Given the description of an element on the screen output the (x, y) to click on. 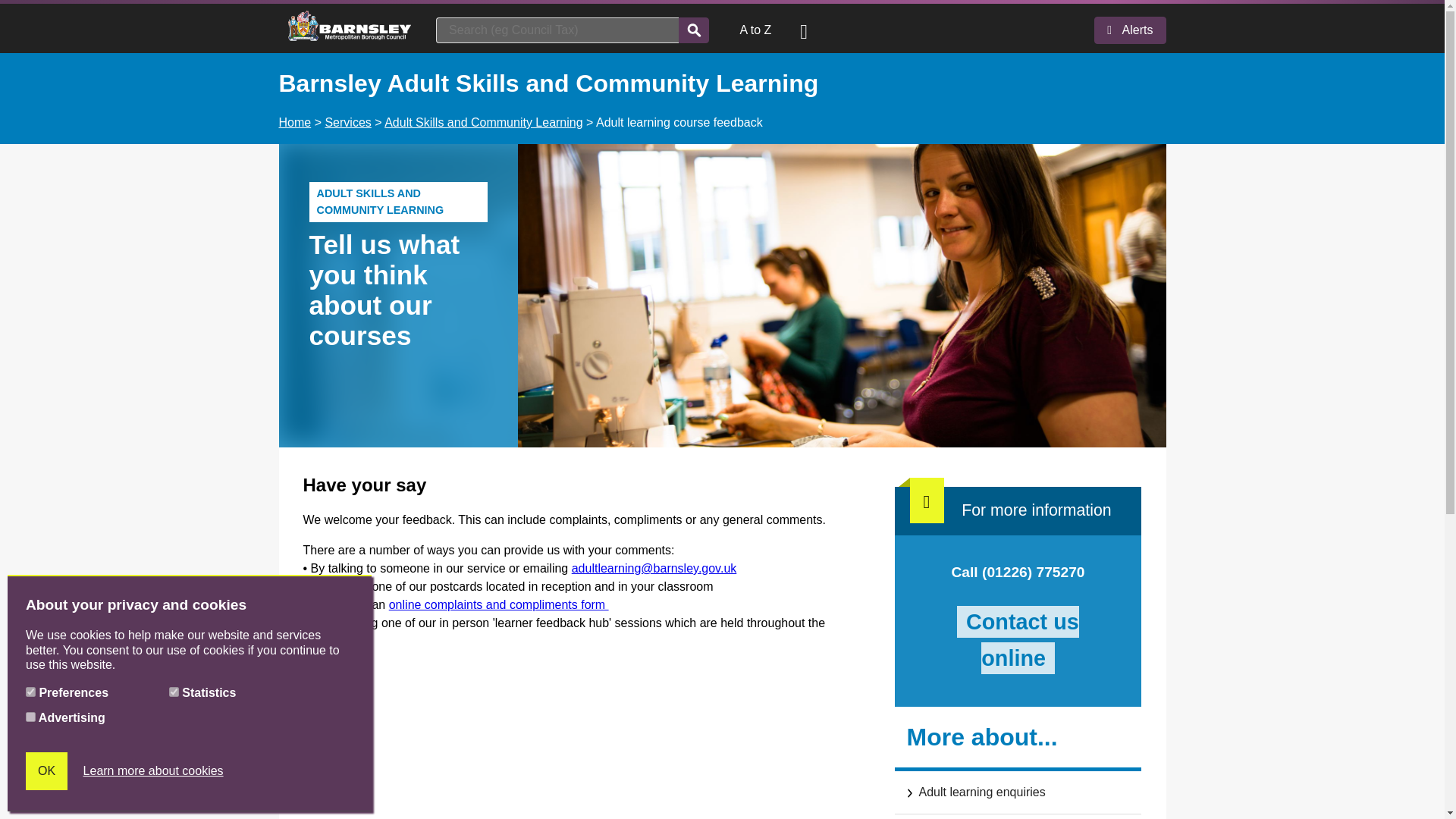
True (30, 691)
Adult learning course fees (1018, 816)
Learn more about cookies (153, 771)
online complaints and compliments form  (498, 604)
Services (347, 122)
OK (46, 771)
A to Z (755, 29)
Adult Skills and Community Learning (483, 122)
Complaints or compliments (498, 604)
Alerts (1130, 30)
Home (295, 122)
OK (46, 771)
True (30, 716)
Contact us online (1017, 640)
